Given the description of an element on the screen output the (x, y) to click on. 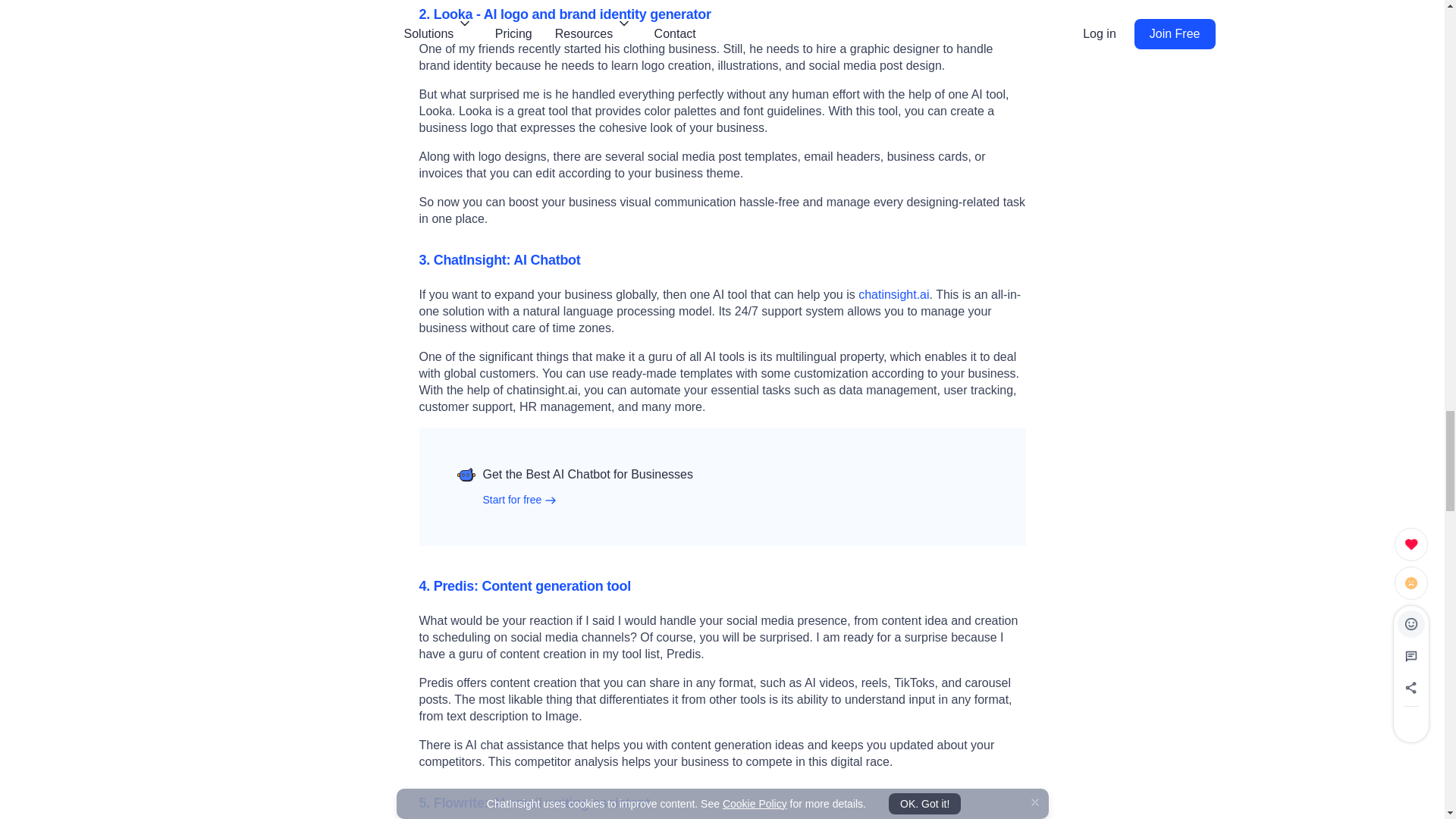
ChatInsight AI chatbot (893, 294)
